Given the description of an element on the screen output the (x, y) to click on. 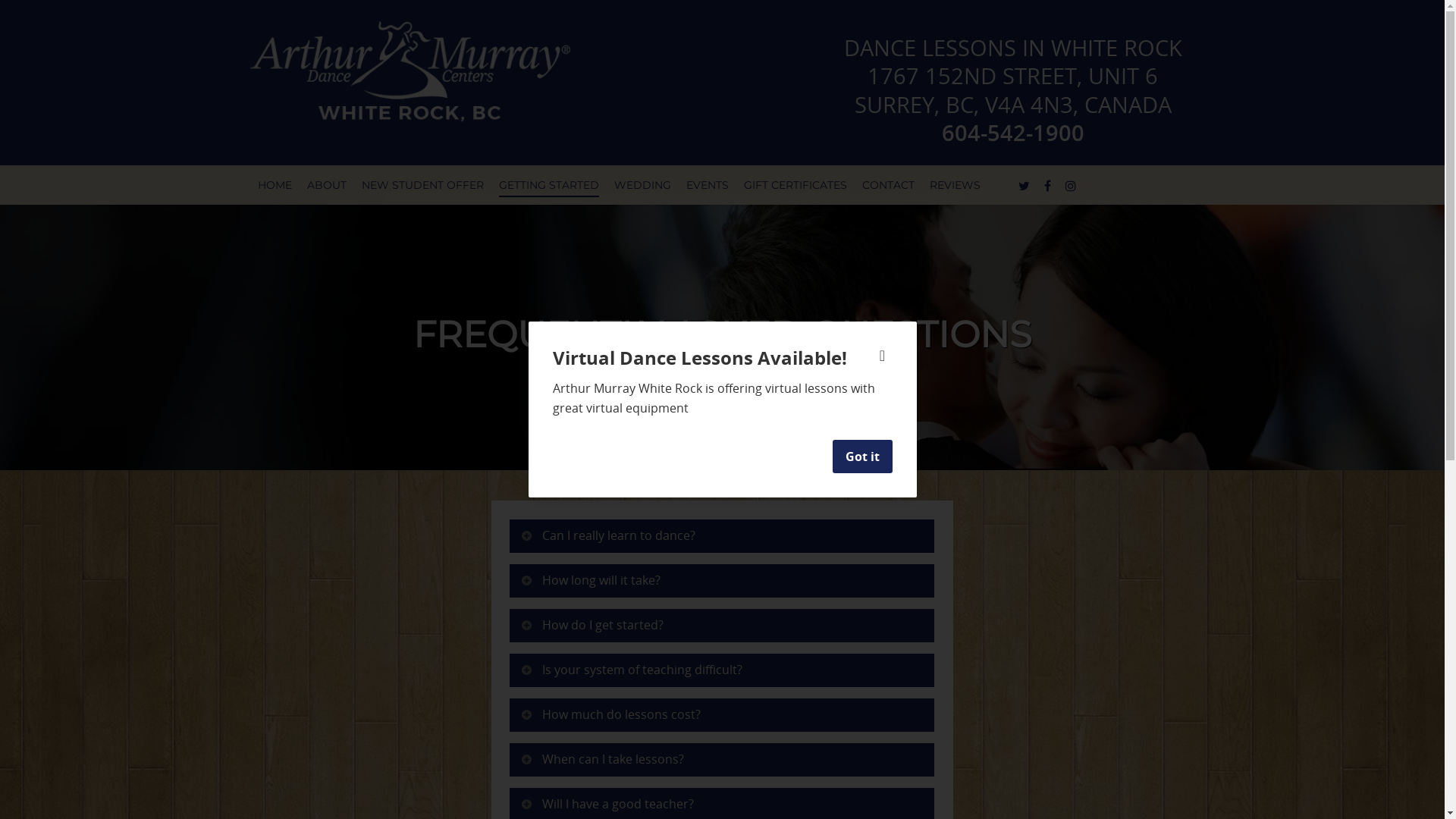
EVENTS Element type: text (707, 185)
GIFT CERTIFICATES Element type: text (795, 185)
Is your system of teaching difficult? Element type: text (721, 670)
When can I take lessons? Element type: text (721, 759)
HOME Element type: text (274, 185)
CONTACT Element type: text (888, 185)
How long will it take? Element type: text (721, 580)
604-542-1900 Element type: text (1012, 132)
NEW STUDENT OFFER Element type: text (422, 185)
Got it Element type: text (862, 456)
WEDDING Element type: text (642, 185)
Can I really learn to dance? Element type: text (721, 535)
REVIEWS Element type: text (954, 185)
How much do lessons cost? Element type: text (721, 714)
GETTING STARTED Element type: text (548, 185)
How do I get started? Element type: text (721, 625)
ABOUT Element type: text (326, 185)
